Given the description of an element on the screen output the (x, y) to click on. 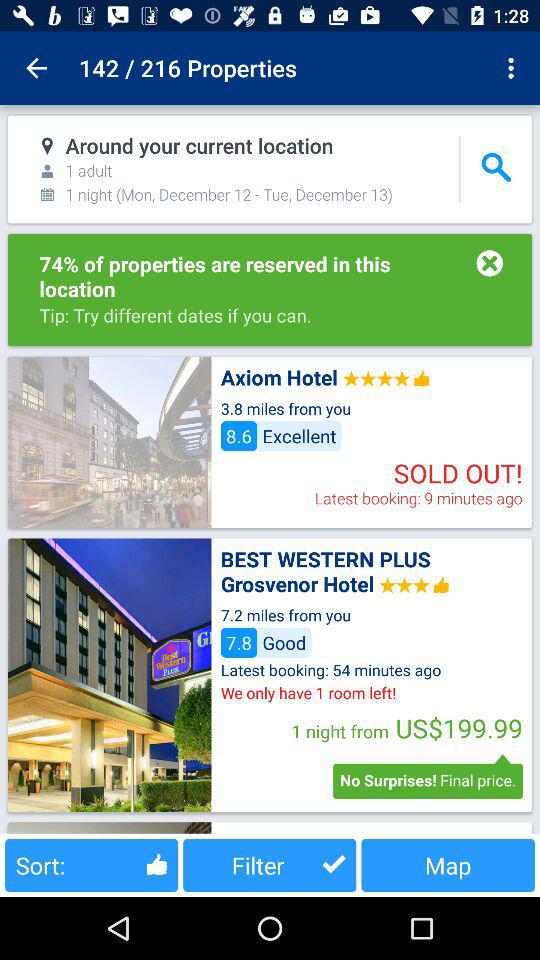
turn on item next to 142 / 216 properties item (36, 68)
